Given the description of an element on the screen output the (x, y) to click on. 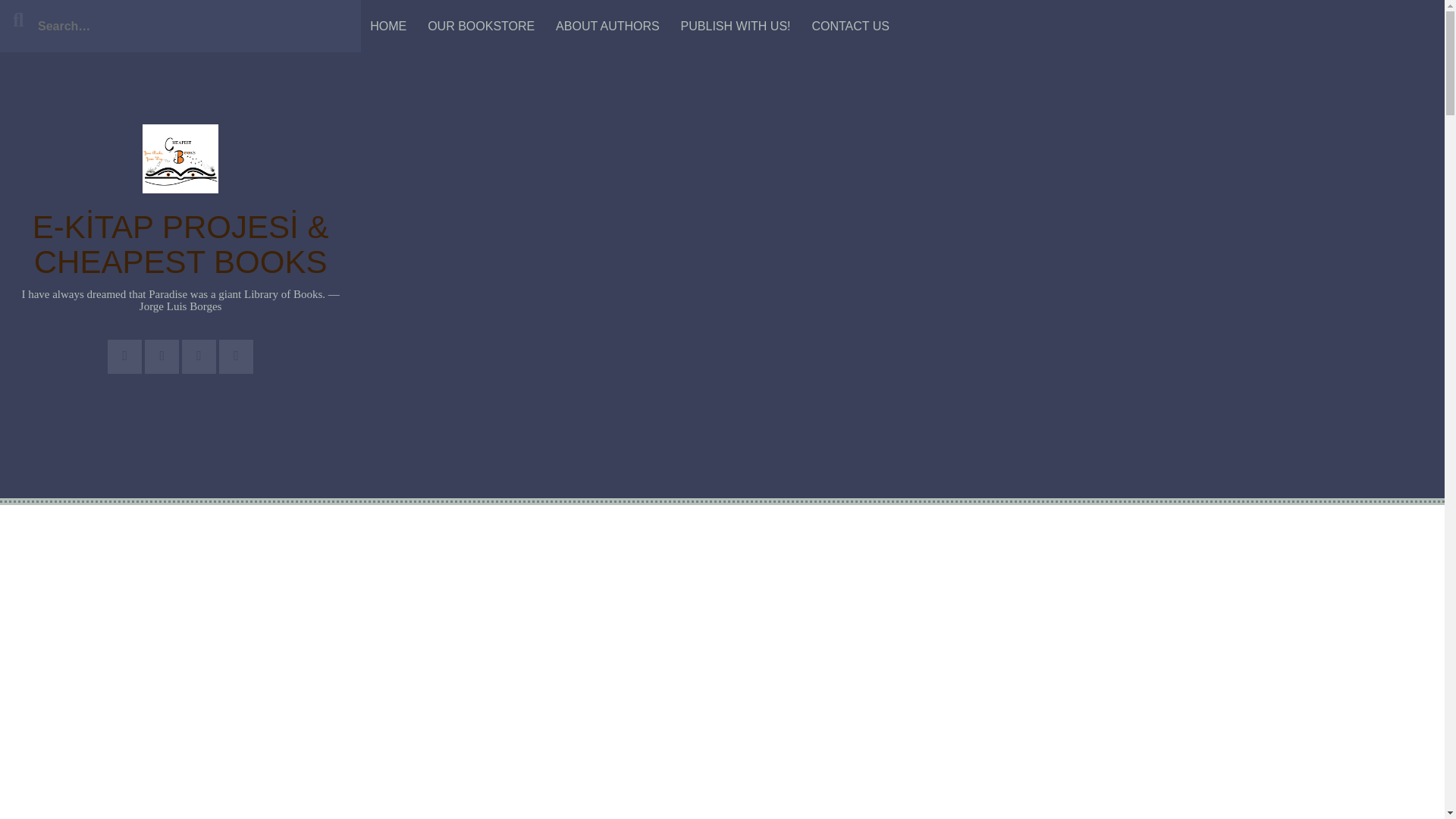
CONTACT US (850, 26)
OUR BOOKSTORE (481, 26)
ABOUT AUTHORS (607, 26)
PUBLISH WITH US! (735, 26)
Search for: (180, 26)
HOME (387, 26)
